Given the description of an element on the screen output the (x, y) to click on. 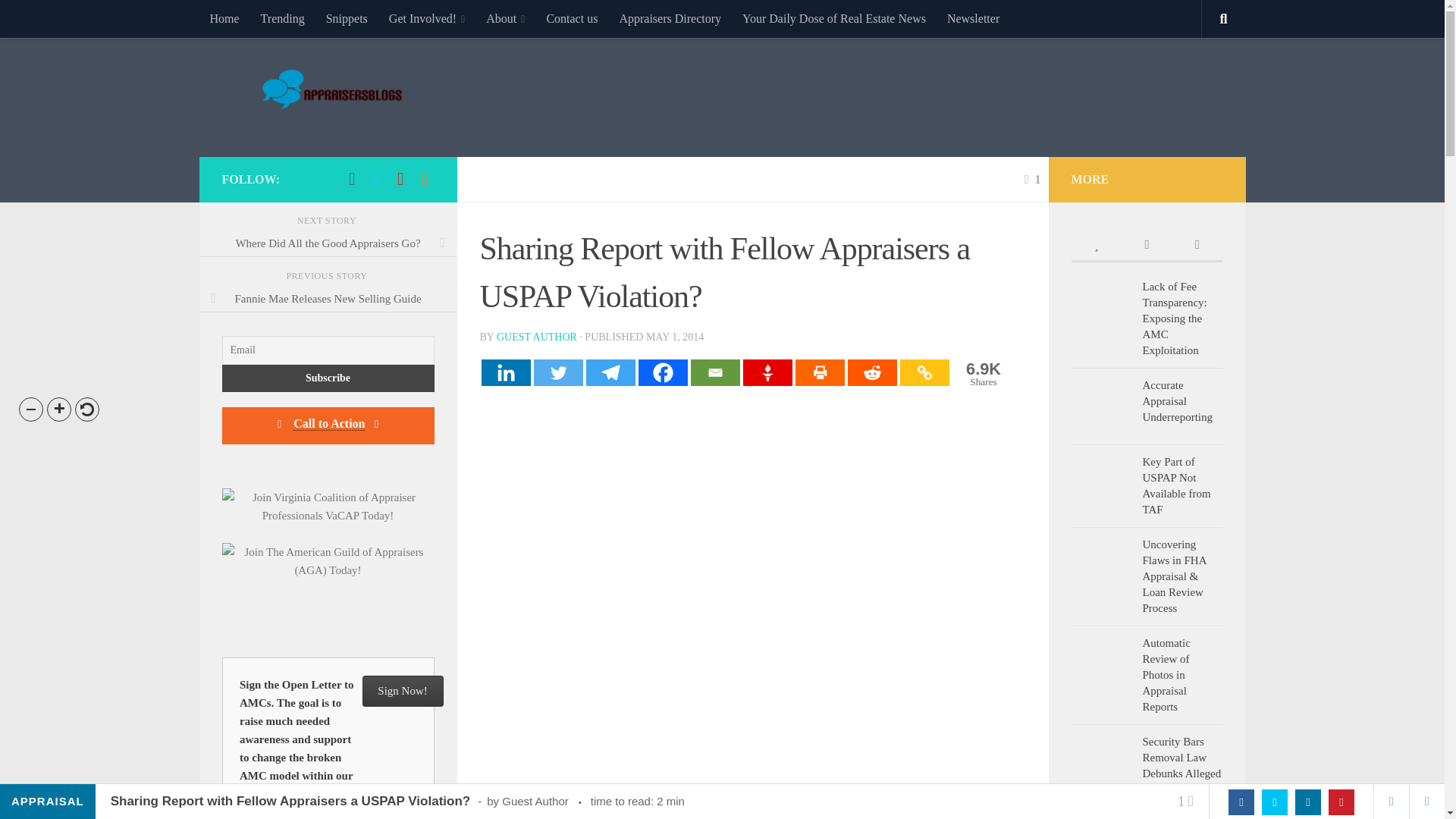
1 (1033, 178)
Facebook (663, 372)
Reddit (871, 372)
Posts by Guest Author (536, 337)
Email (714, 372)
Contact us (571, 18)
Subscribe (327, 378)
Appraisers Directory (670, 18)
Linkedin (504, 372)
Telegram (609, 372)
Snippets (346, 18)
Your Daily Dose of Real Estate News (834, 18)
Gettr (767, 372)
Get Involved! (981, 374)
